Given the description of an element on the screen output the (x, y) to click on. 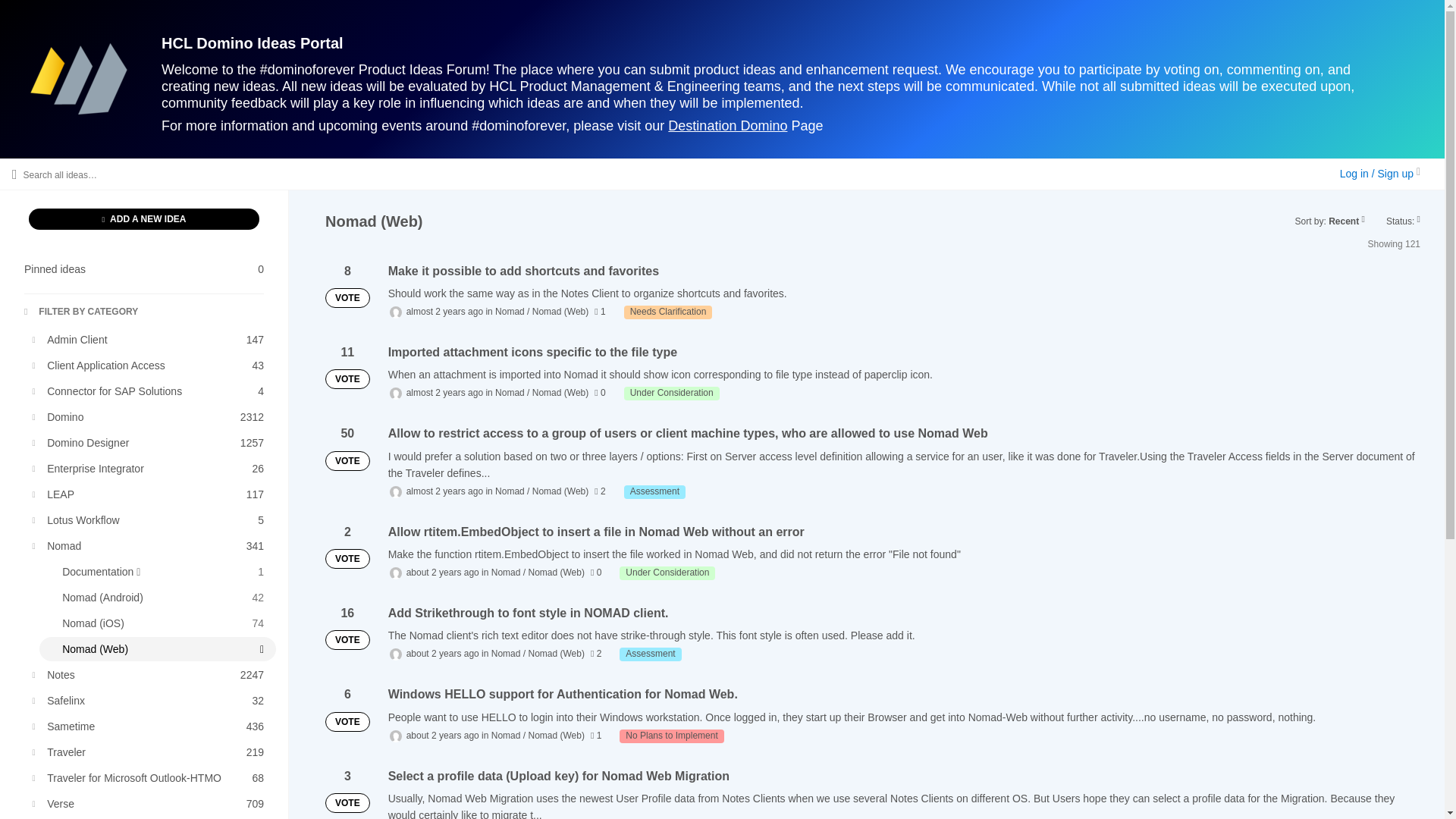
No Plans to Implement (671, 735)
Assessment (150, 416)
Under Consideration (150, 519)
ADD A NEW IDEA (150, 339)
Assessment (654, 491)
FILTER BY CATEGORY (667, 572)
Under Consideration (144, 219)
Needs Clarification (650, 653)
